Given the description of an element on the screen output the (x, y) to click on. 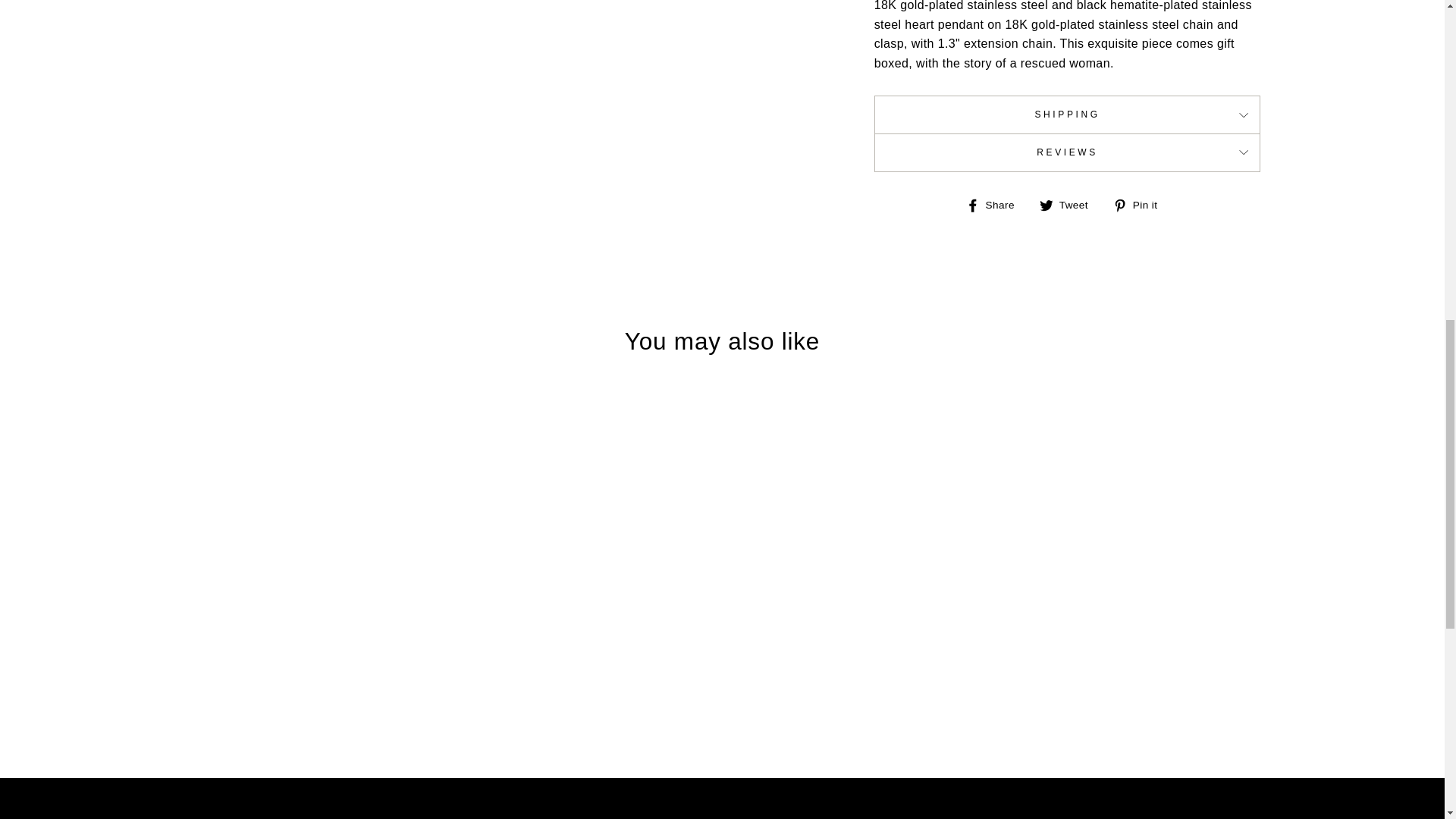
Tweet on Twitter (1069, 204)
Share on Facebook (996, 204)
Pin on Pinterest (1141, 204)
